Given the description of an element on the screen output the (x, y) to click on. 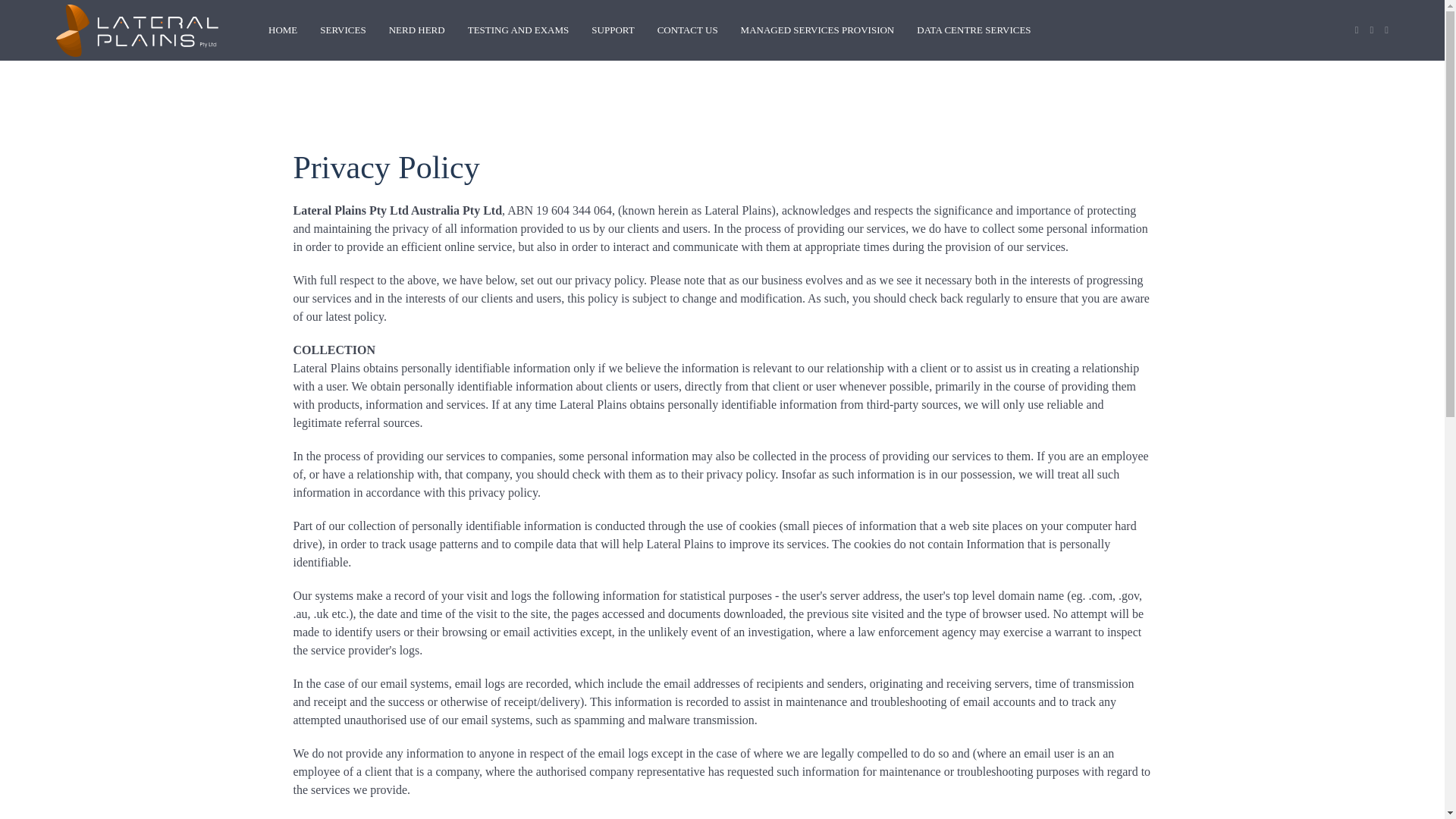
CONTACT US (687, 30)
NERD HERD (416, 30)
DATA CENTRE SERVICES (973, 30)
MANAGED SERVICES PROVISION (818, 30)
TESTING AND EXAMS (518, 30)
